Given the description of an element on the screen output the (x, y) to click on. 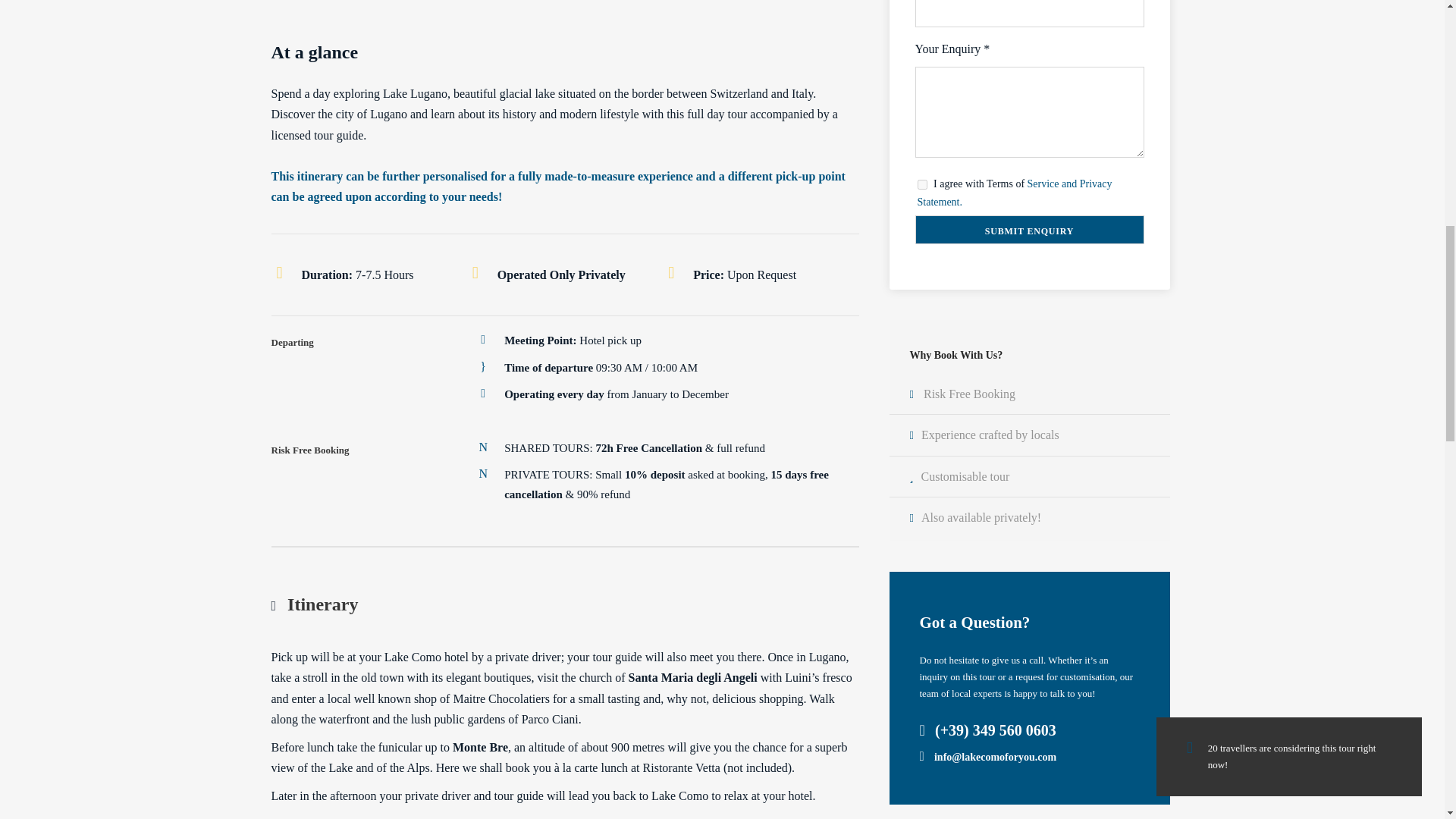
Service and Privacy Statement. (1014, 193)
1 (922, 184)
Submit Enquiry (1028, 229)
Submit Enquiry (1028, 229)
